Given the description of an element on the screen output the (x, y) to click on. 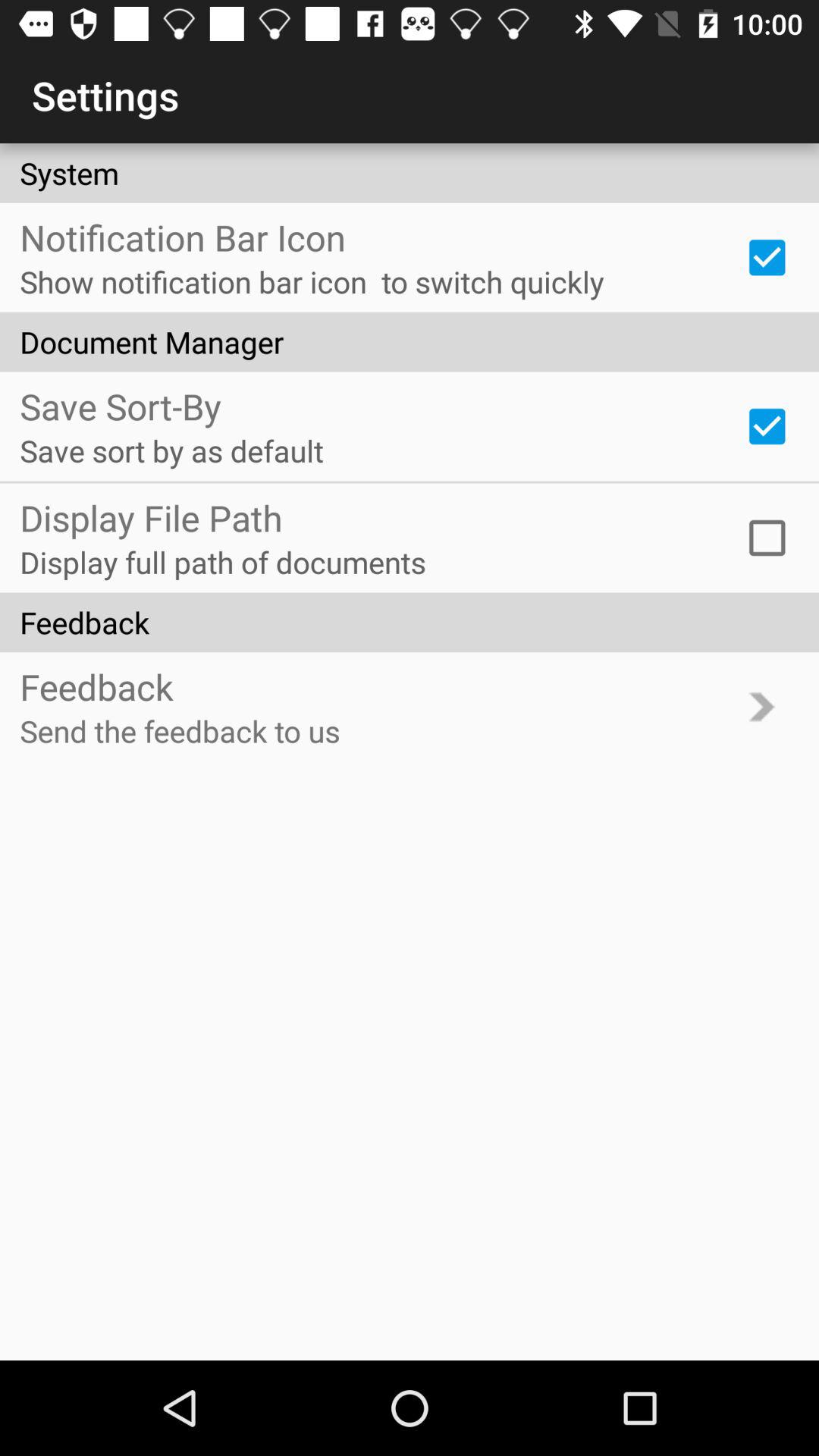
click icon to the right of the display full path item (767, 537)
